Given the description of an element on the screen output the (x, y) to click on. 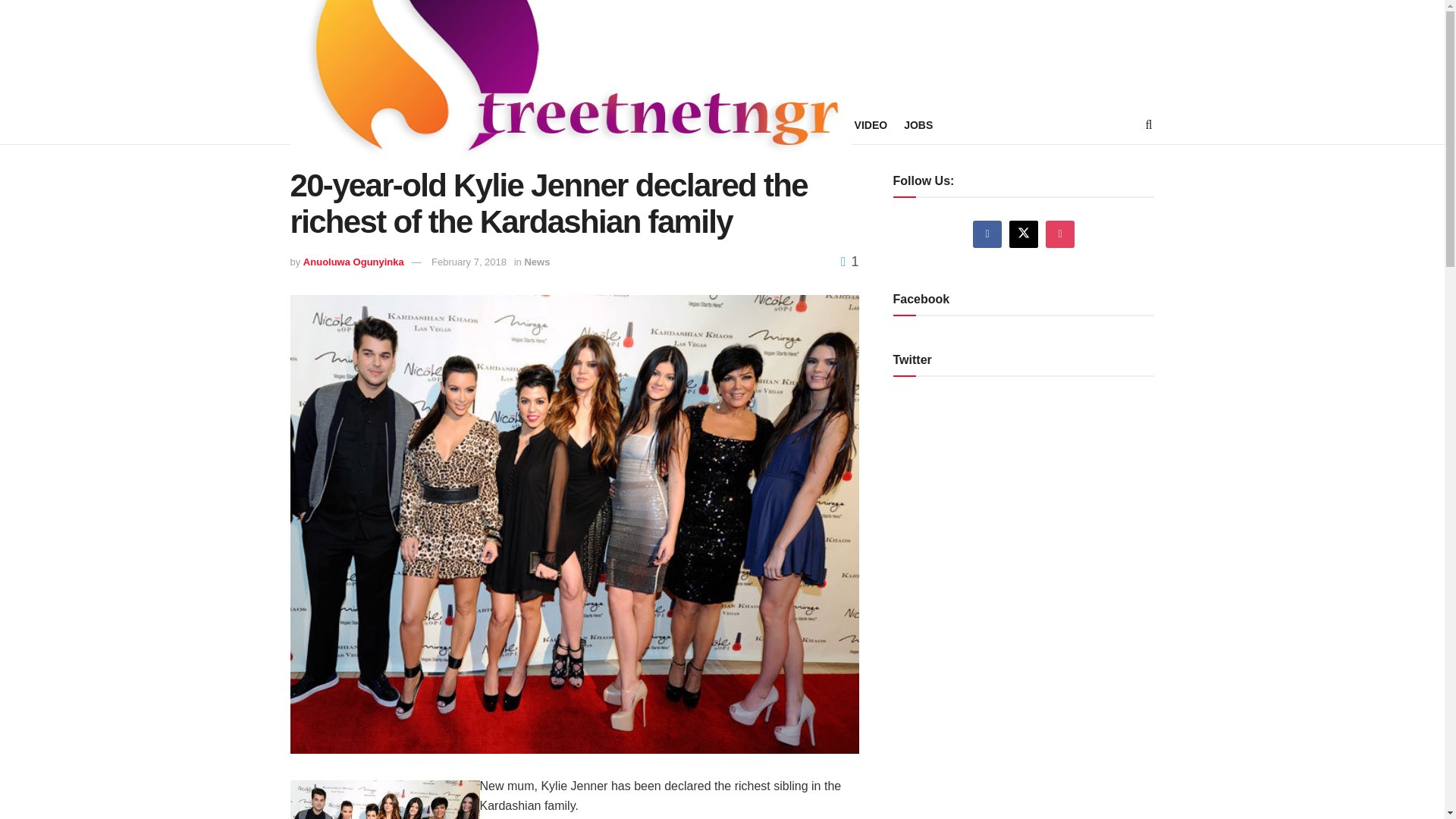
Anuoluwa Ogunyinka (353, 261)
LIFESTYLE (536, 124)
YOUR SAY (669, 124)
VIDEO (871, 124)
JOBS (918, 124)
POLITICS (467, 124)
METRO (406, 124)
News (537, 261)
1 (850, 261)
NEWS (353, 124)
